Given the description of an element on the screen output the (x, y) to click on. 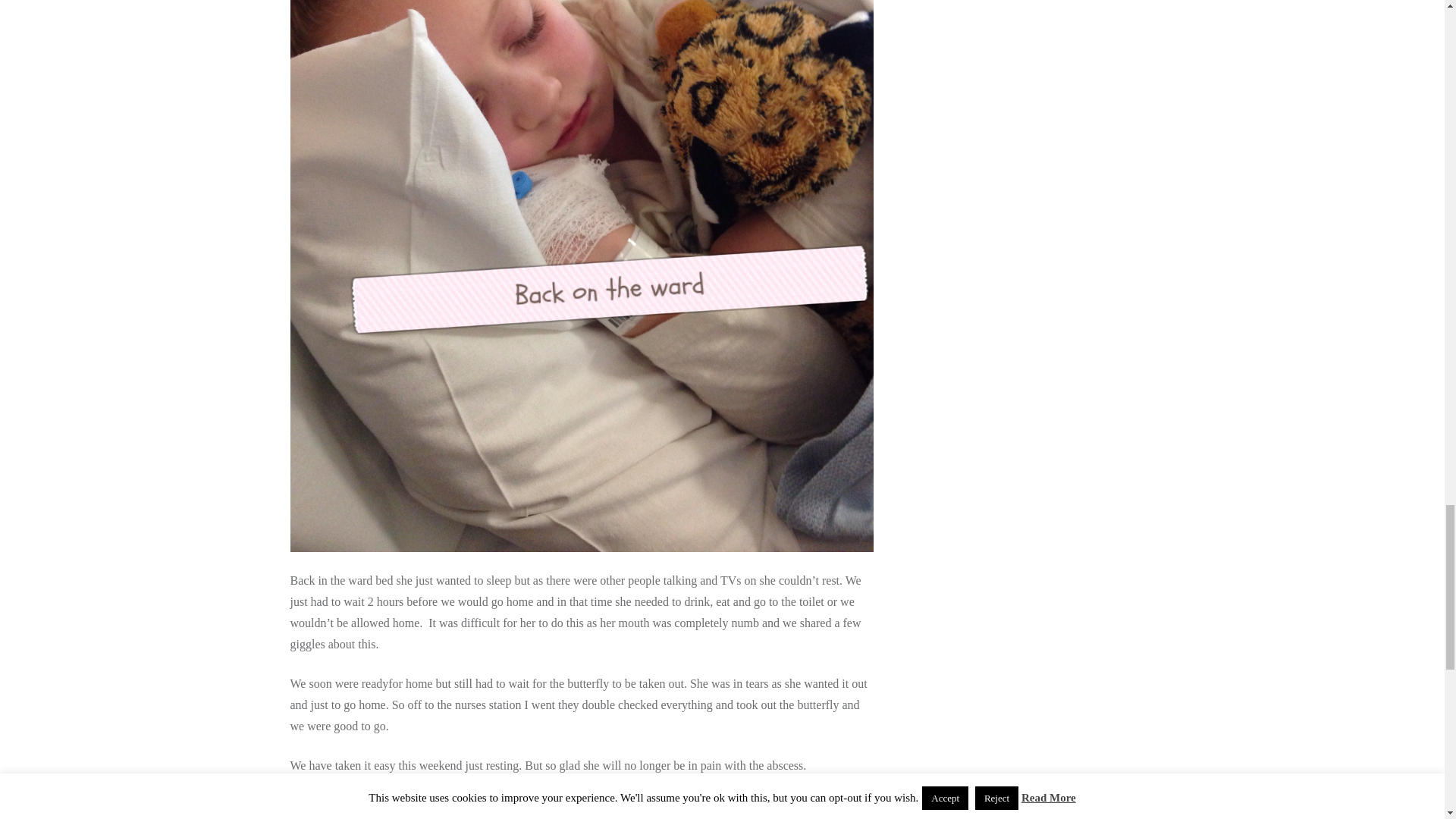
TEETH (448, 812)
PAIN (408, 812)
CARE (306, 812)
HOSPITAL (358, 812)
